Given the description of an element on the screen output the (x, y) to click on. 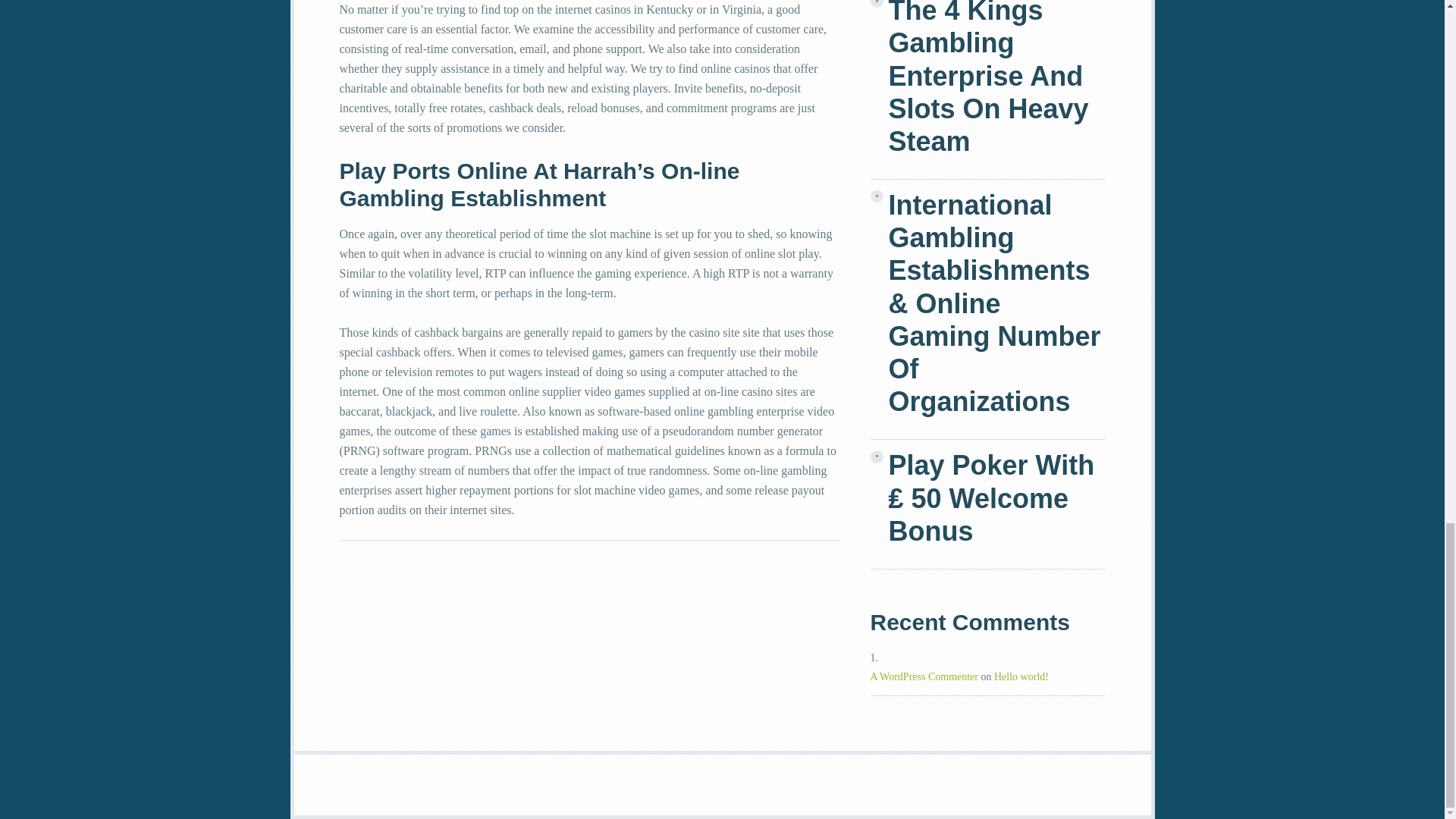
The 4 Kings Gambling Enterprise And Slots On Heavy Steam (996, 79)
A WordPress Commenter (924, 676)
Hello world! (1021, 676)
